Given the description of an element on the screen output the (x, y) to click on. 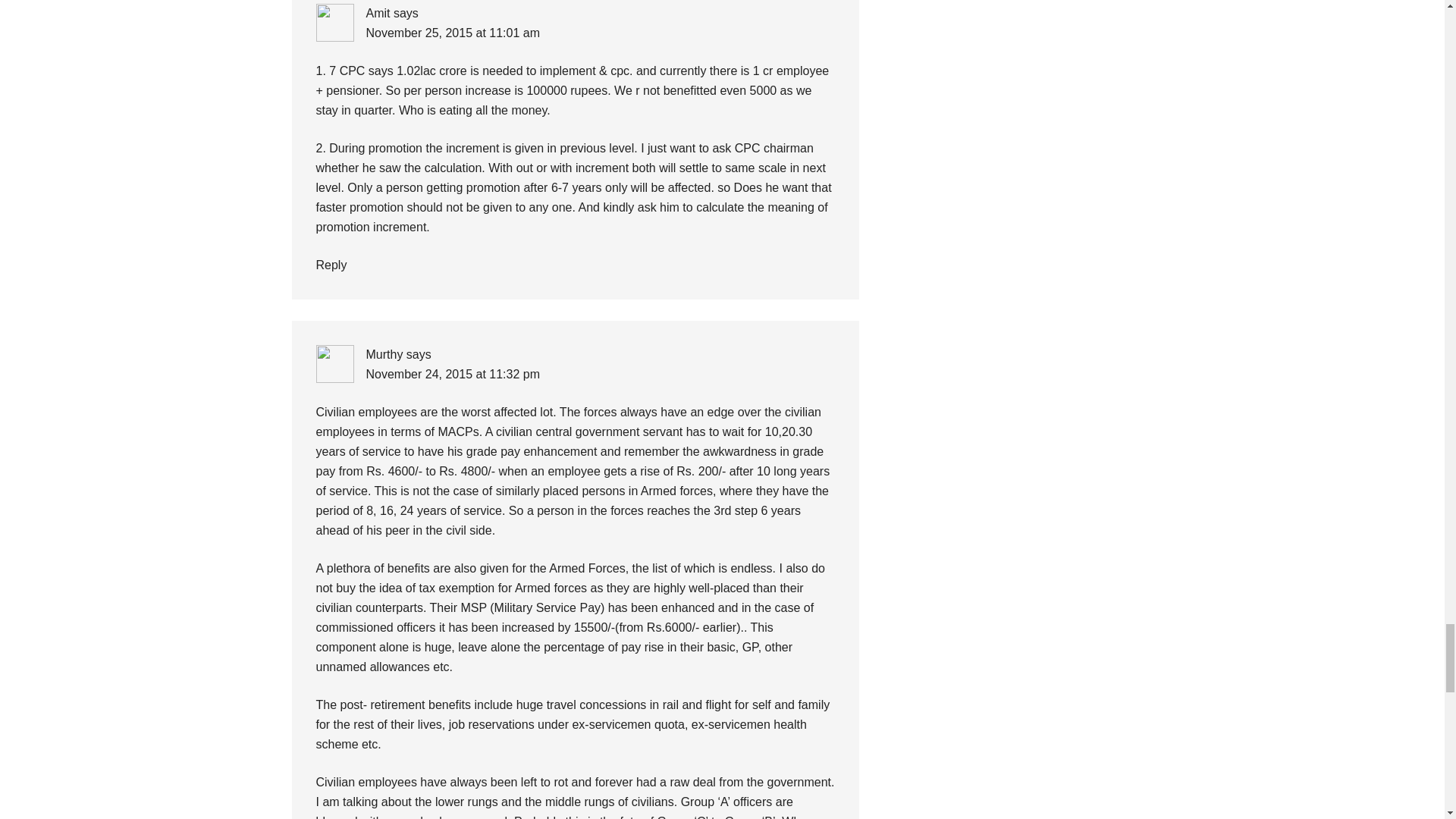
November 25, 2015 at 11:01 am (451, 32)
Reply (330, 264)
November 24, 2015 at 11:32 pm (451, 373)
